Given the description of an element on the screen output the (x, y) to click on. 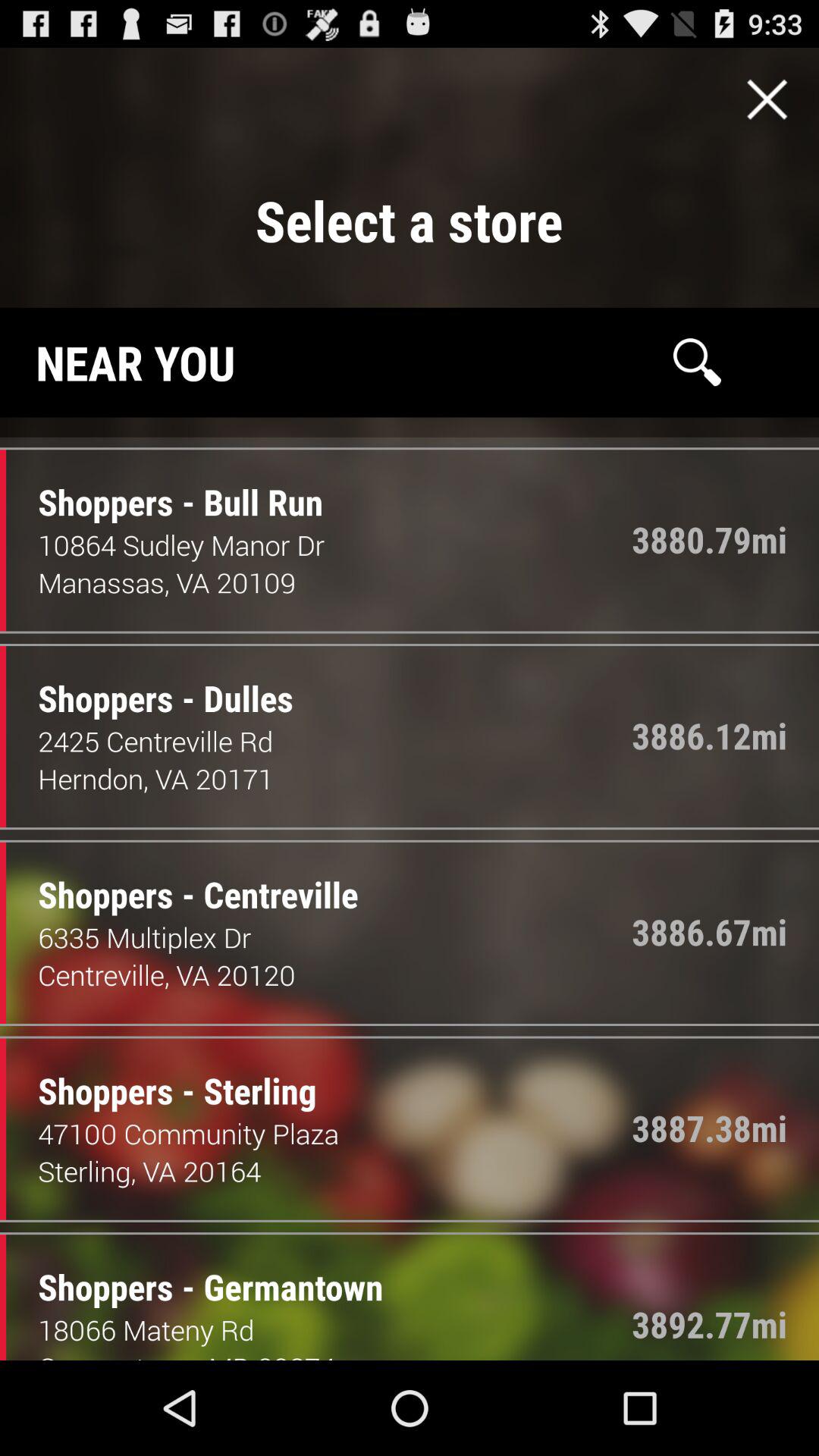
tap icon to the left of the 3886.12mi item (154, 682)
